Given the description of an element on the screen output the (x, y) to click on. 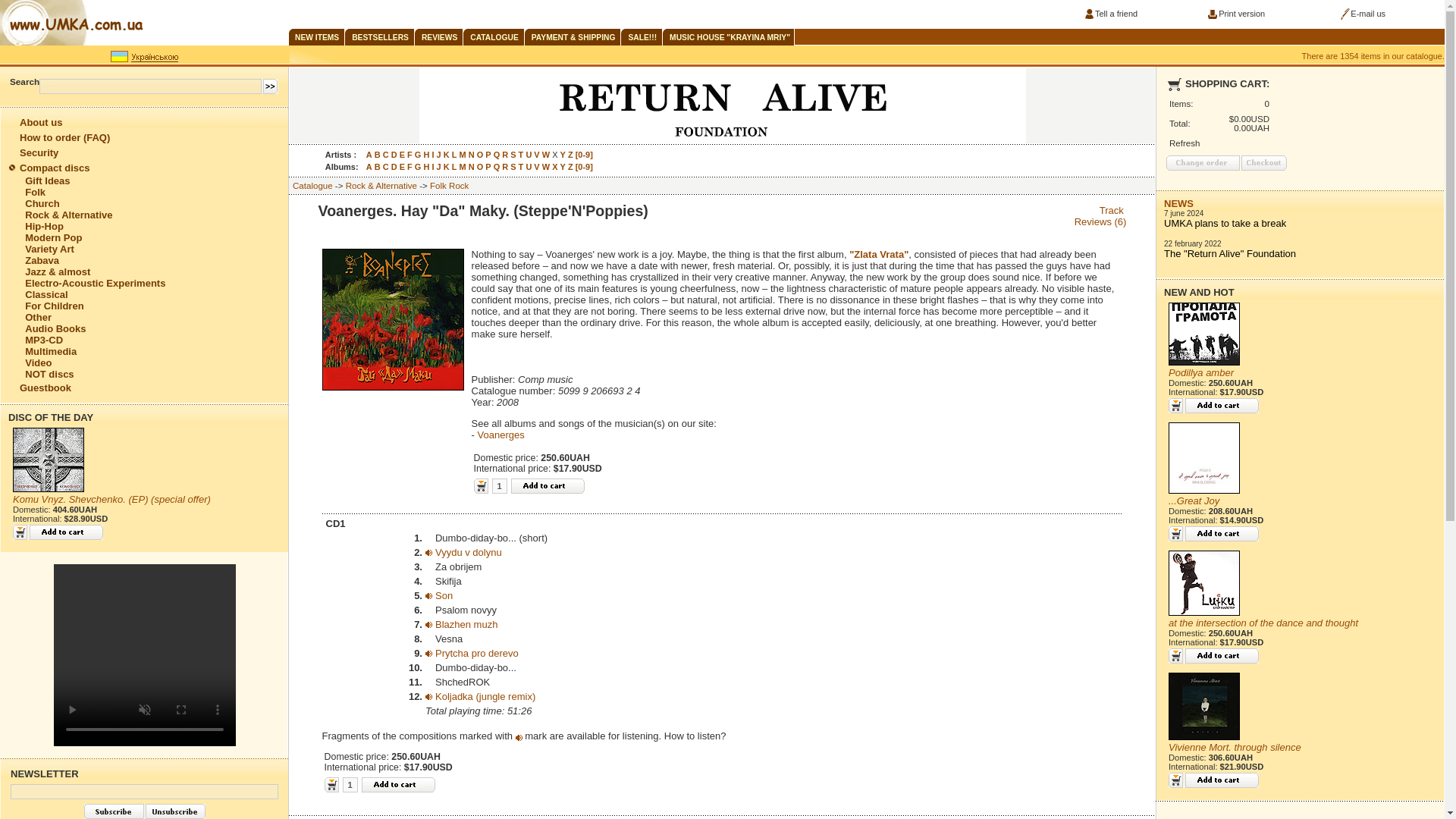
Church (41, 203)
NOT discs (49, 374)
Mp3 (428, 551)
Other (37, 317)
Hip-Hop (44, 225)
Video (37, 362)
For Children (53, 306)
Mp3 (428, 695)
1 (350, 784)
Electro-Acoustic Experiments (94, 283)
Mp3 (428, 623)
Variety Art (49, 248)
About us (41, 122)
Compact discs (55, 167)
Folk (34, 192)
